Given the description of an element on the screen output the (x, y) to click on. 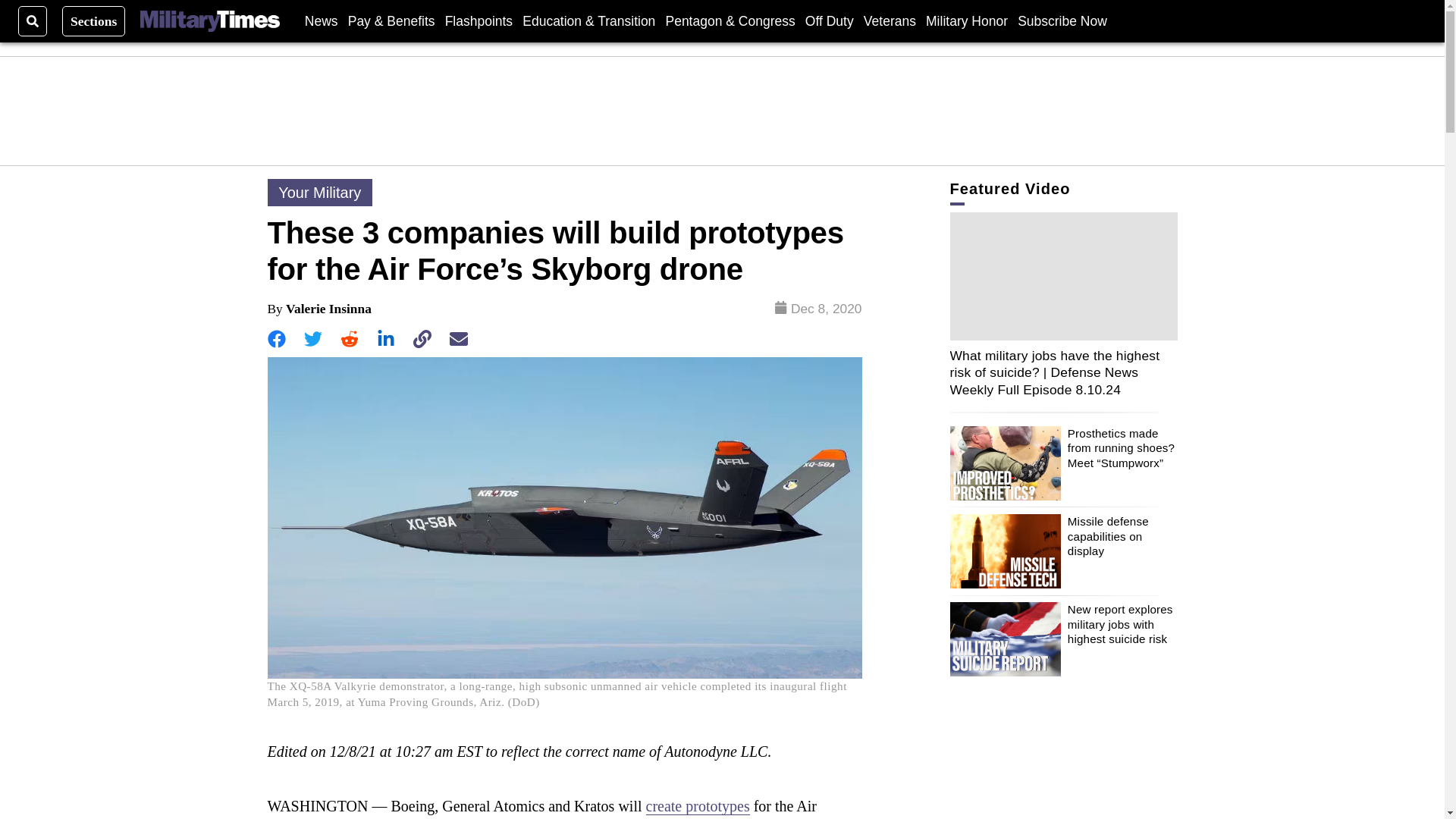
Military Times Logo (209, 20)
Sections (93, 20)
News (320, 20)
Veterans (889, 20)
Flashpoints (479, 20)
Military Honor (966, 20)
Off Duty (829, 20)
